Given the description of an element on the screen output the (x, y) to click on. 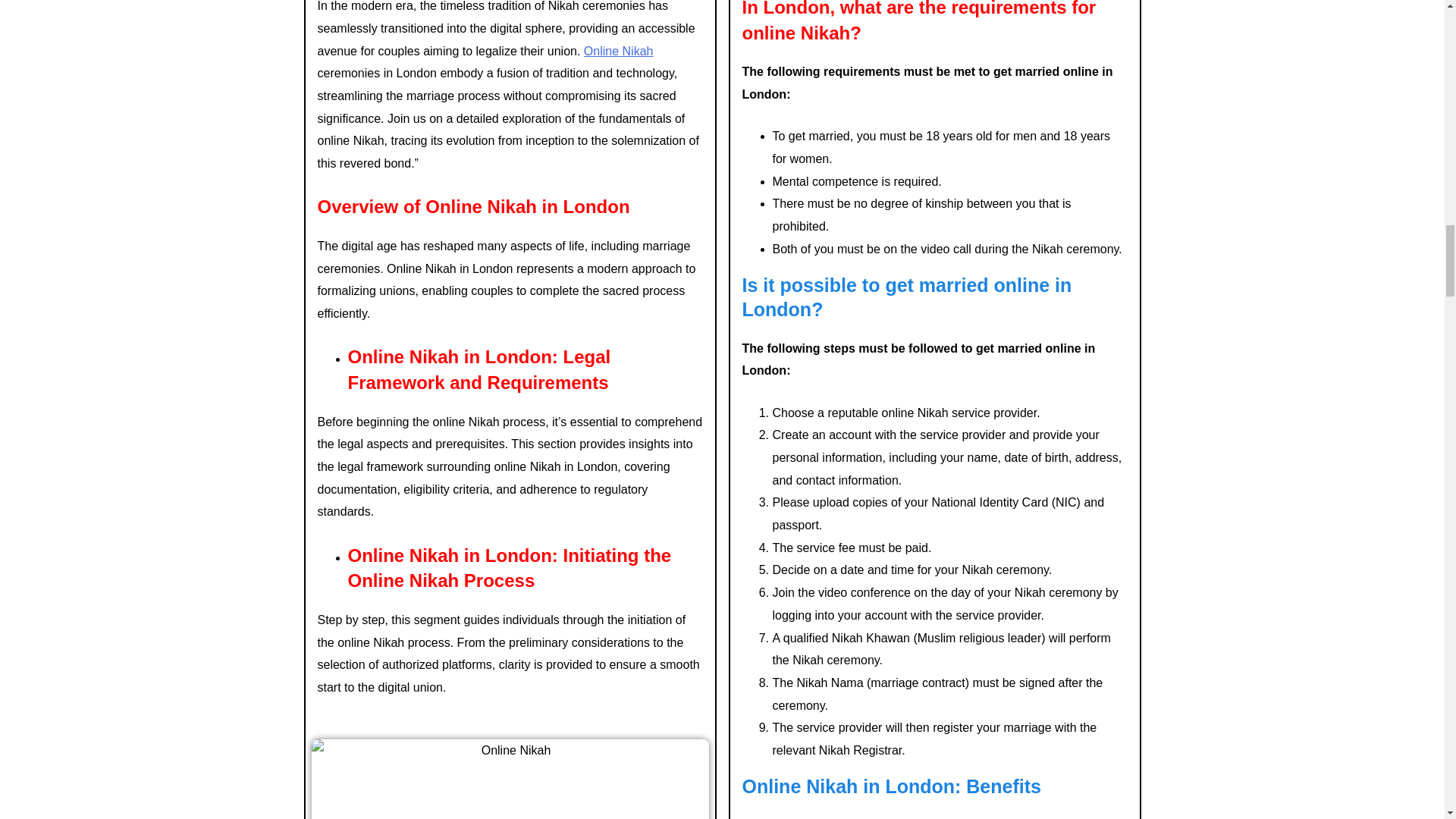
Online Nikah (618, 51)
